Given the description of an element on the screen output the (x, y) to click on. 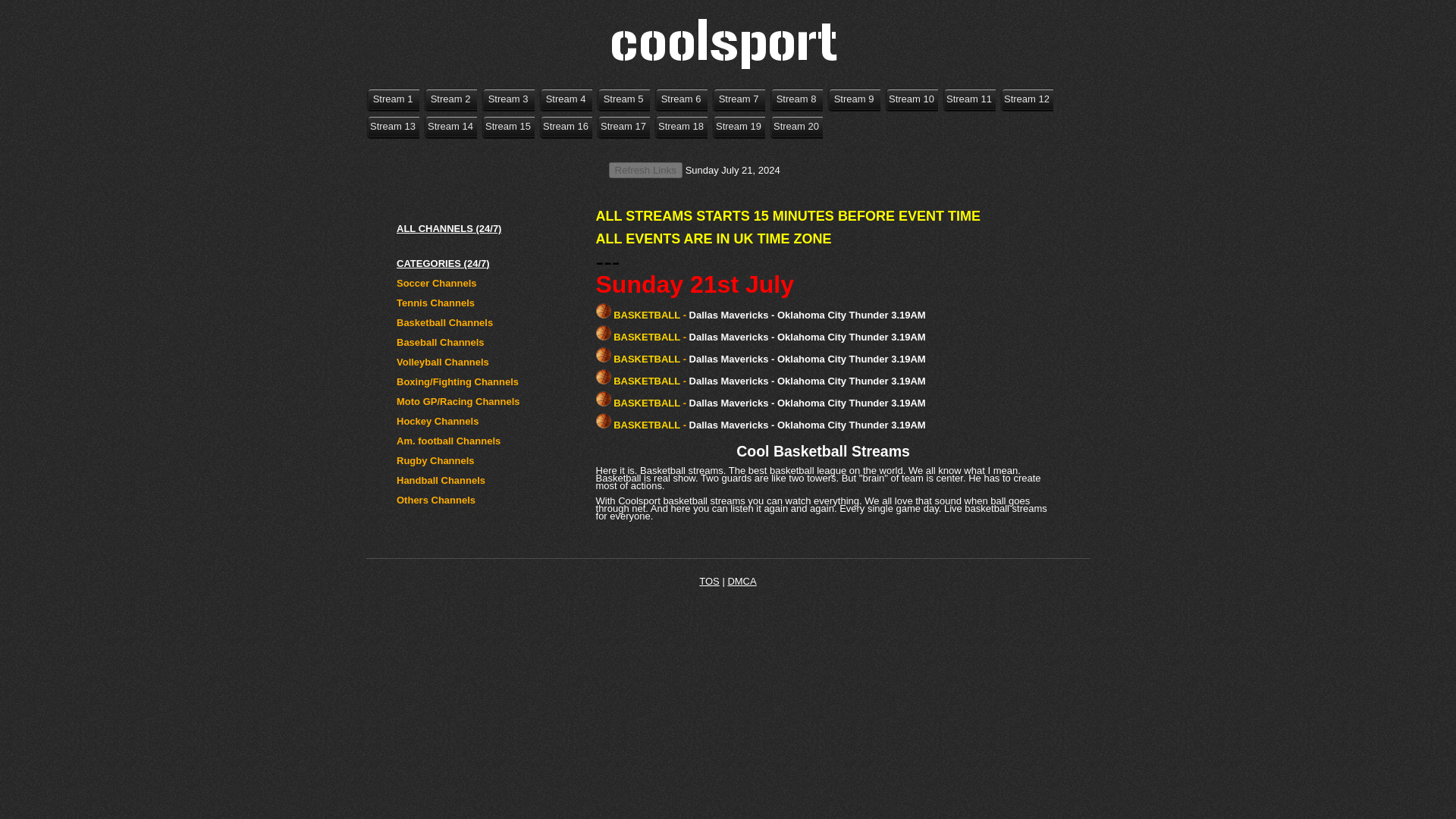
Tennis Channels (435, 302)
Boxing - Jake Paul - Mike Perry (796, 98)
Basketball Channels (444, 322)
Stream 10 (911, 98)
Soccer Channels (436, 283)
Boxing - Jake Paul - Mike Perry (391, 125)
Boxing - Jake Paul - Mike Perry (565, 125)
Boxing - Jake Paul - Mike Perry (450, 125)
Stream 6 (681, 98)
Dallas Mavericks - Oklahoma City Thunder (968, 98)
Stream 9 (854, 98)
Stream 14 (450, 125)
Refresh Links (645, 170)
Boxing - Jake Paul - Mike Perry (566, 98)
Stream 4 (566, 98)
